Given the description of an element on the screen output the (x, y) to click on. 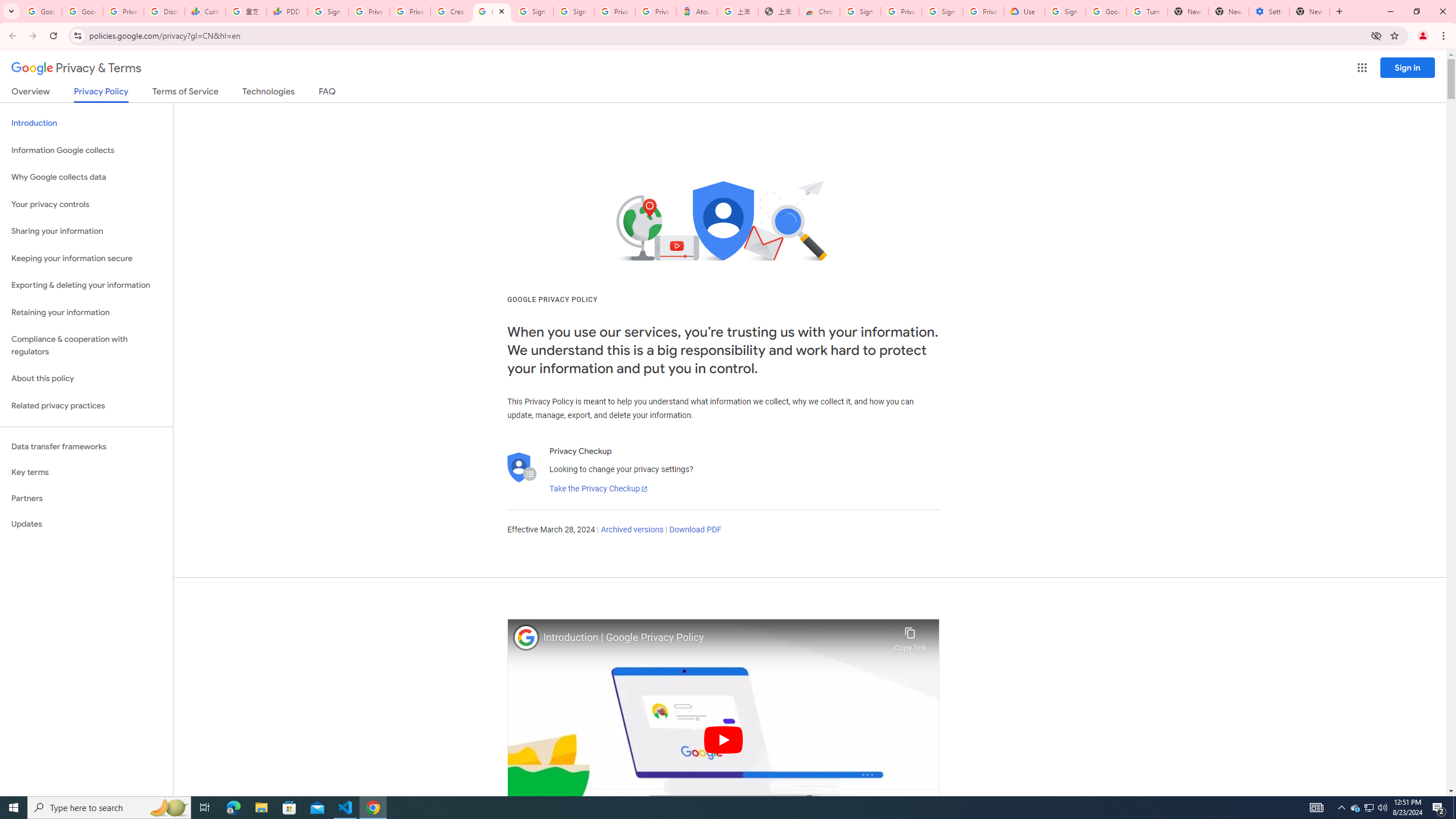
Take the Privacy Checkup (597, 488)
Sign in - Google Accounts (1064, 11)
Privacy Checkup (409, 11)
Chrome Web Store - Color themes by Chrome (818, 11)
